Given the description of an element on the screen output the (x, y) to click on. 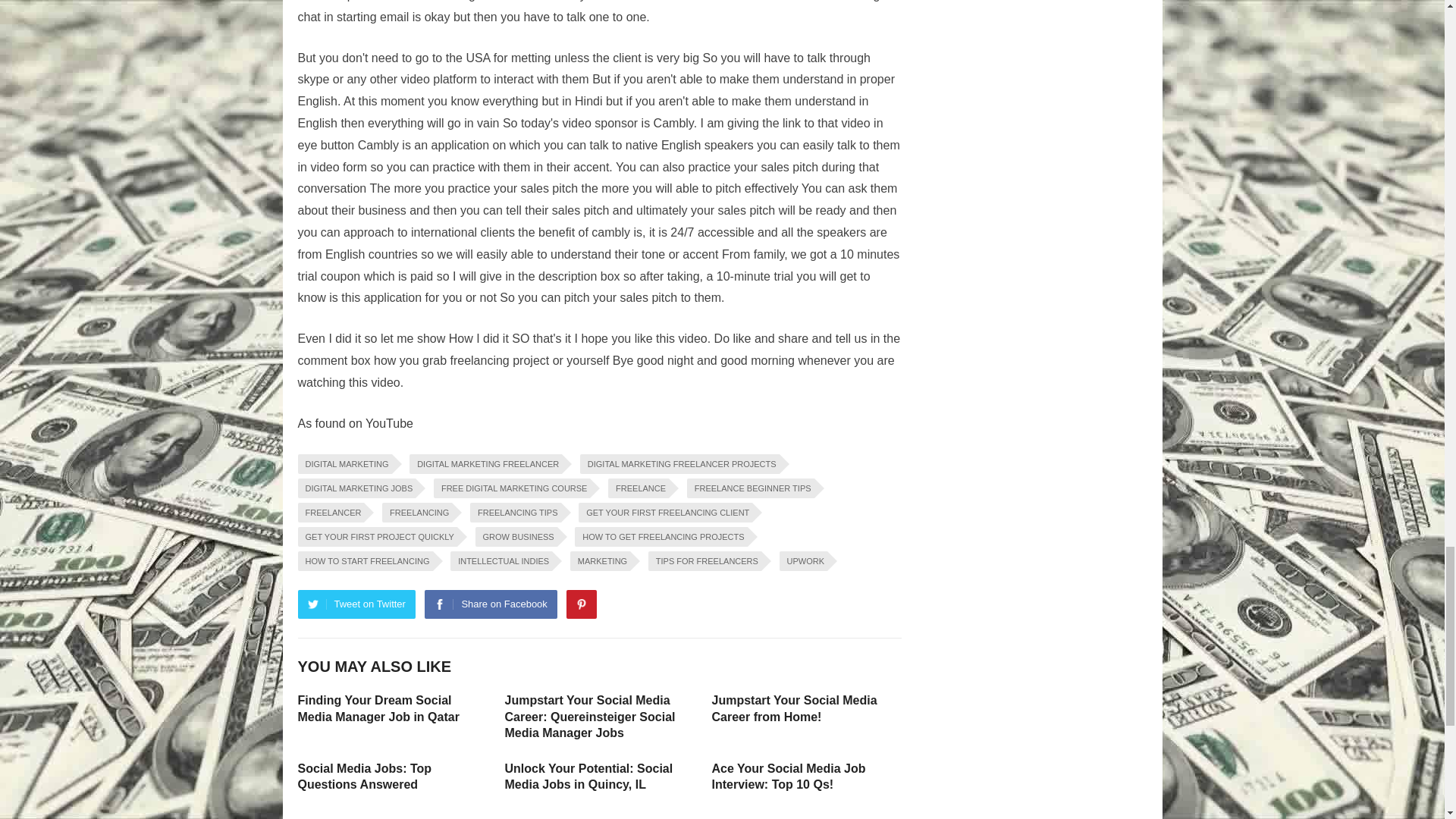
FREELANCE (638, 487)
DIGITAL MARKETING FREELANCER PROJECTS (678, 464)
FREELANCING (416, 512)
As found on YouTube (354, 422)
FREELANCING TIPS (515, 512)
FREELANCE BEGINNER TIPS (750, 487)
DIGITAL MARKETING (344, 464)
GET YOUR FIRST FREELANCING CLIENT (665, 512)
DIGITAL MARKETING JOBS (355, 487)
FREELANCER (330, 512)
FREE DIGITAL MARKETING COURSE (512, 487)
GROW BUSINESS (516, 537)
GET YOUR FIRST PROJECT QUICKLY (377, 537)
DIGITAL MARKETING FREELANCER (485, 464)
